Given the description of an element on the screen output the (x, y) to click on. 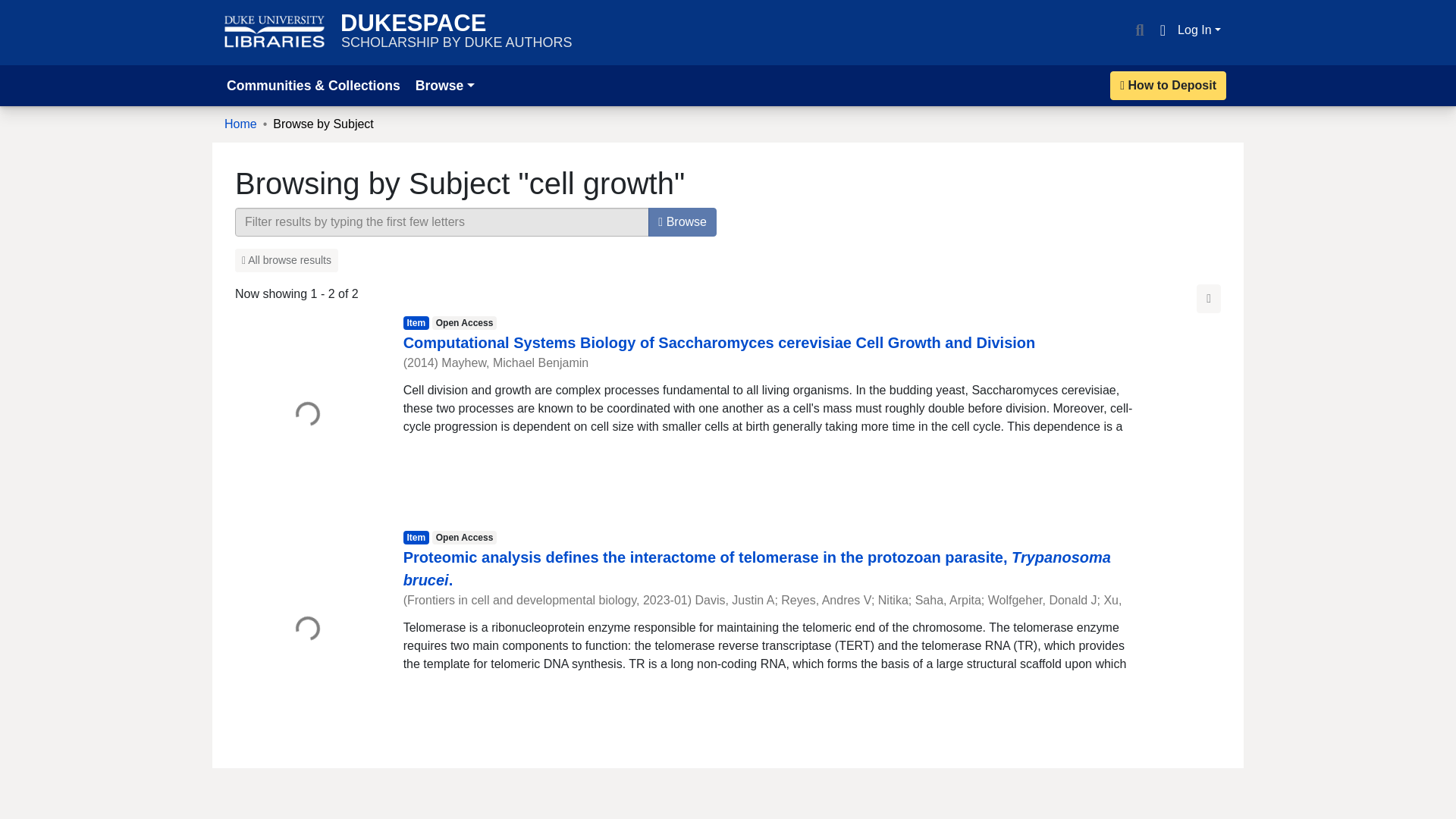
Language switch (1162, 30)
Browse (444, 85)
Browse (681, 222)
Home (240, 124)
Log In (1199, 29)
All browse results (285, 259)
Search (1138, 30)
How to Deposit (1167, 85)
